Given the description of an element on the screen output the (x, y) to click on. 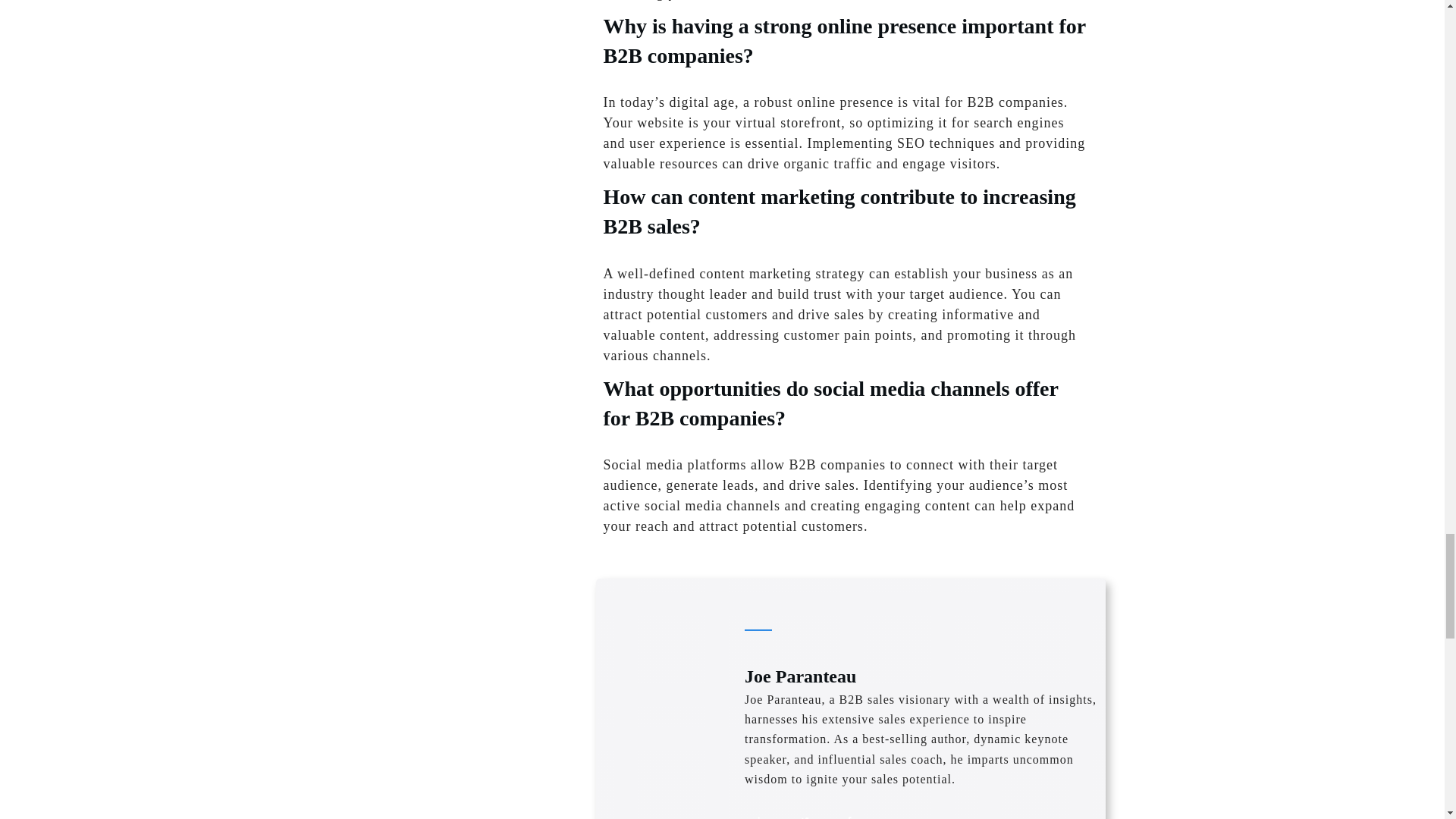
JPAR-Tent (659, 657)
Share 0 (848, 809)
Share 0 (761, 809)
Tweet 0 (805, 809)
